Given the description of an element on the screen output the (x, y) to click on. 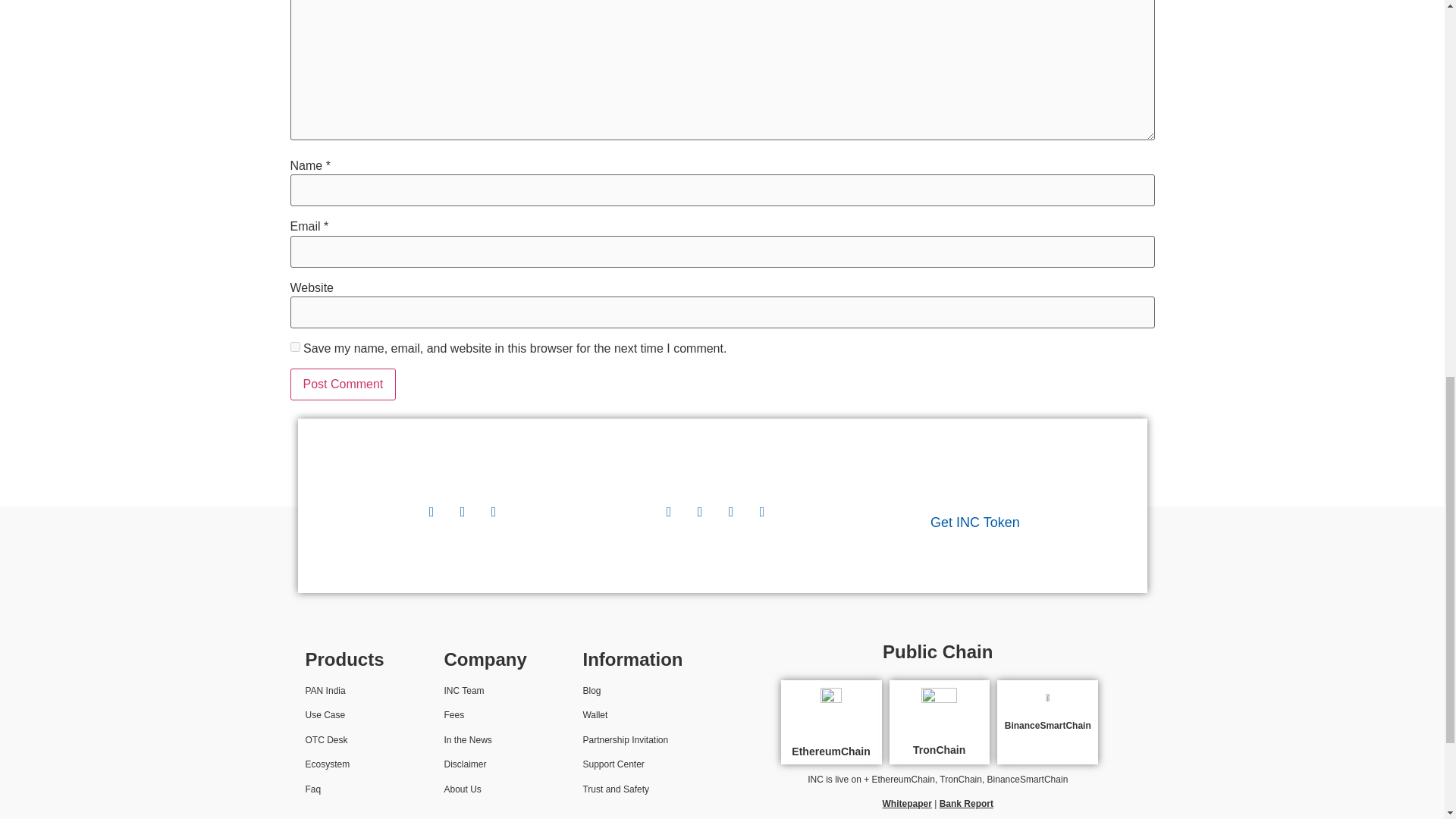
yes (294, 347)
Get INC Token (975, 522)
Use Case (324, 715)
Post Comment (342, 384)
Post Comment (342, 384)
